Given the description of an element on the screen output the (x, y) to click on. 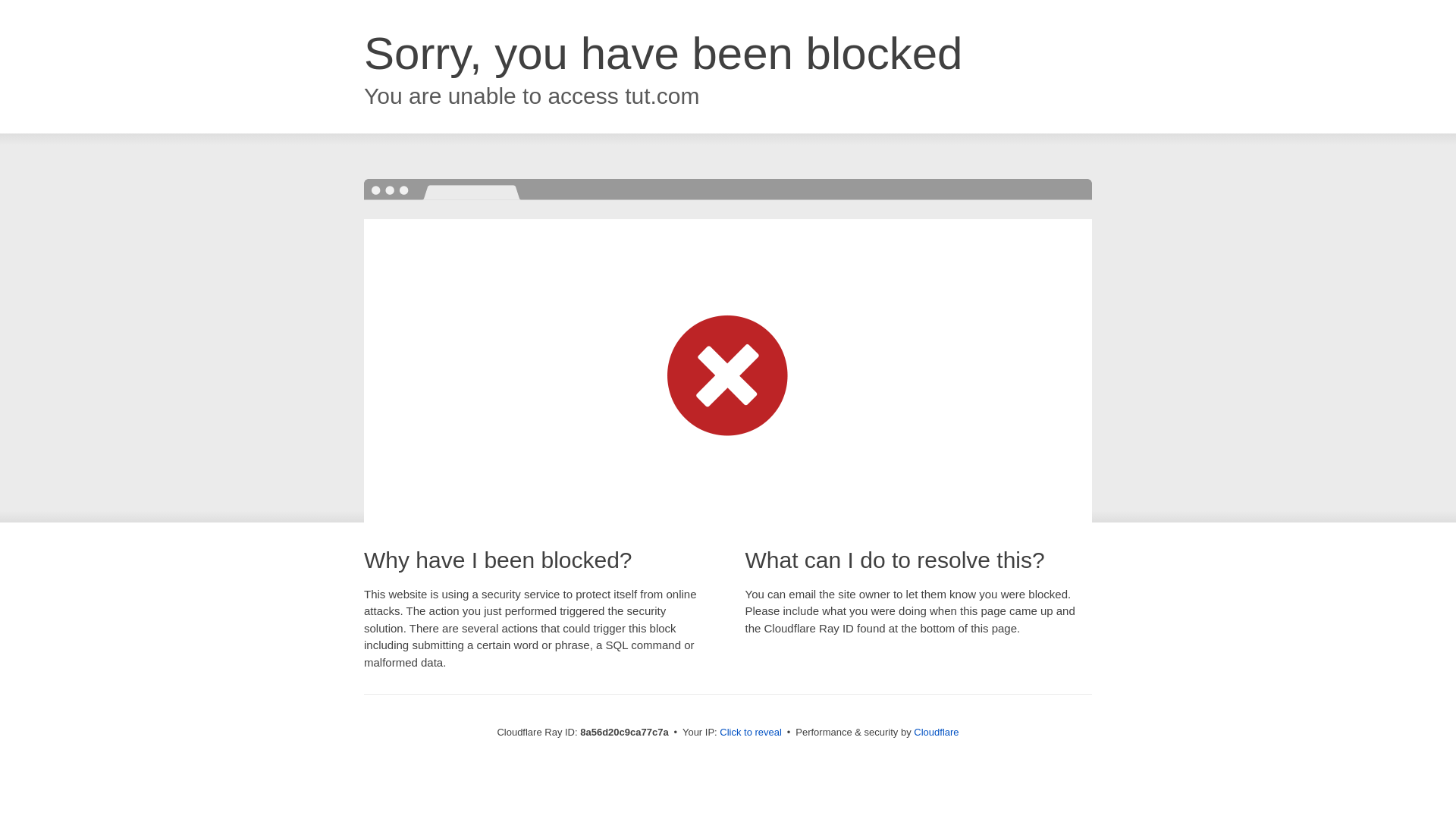
Click to reveal (750, 732)
Cloudflare (936, 731)
